Given the description of an element on the screen output the (x, y) to click on. 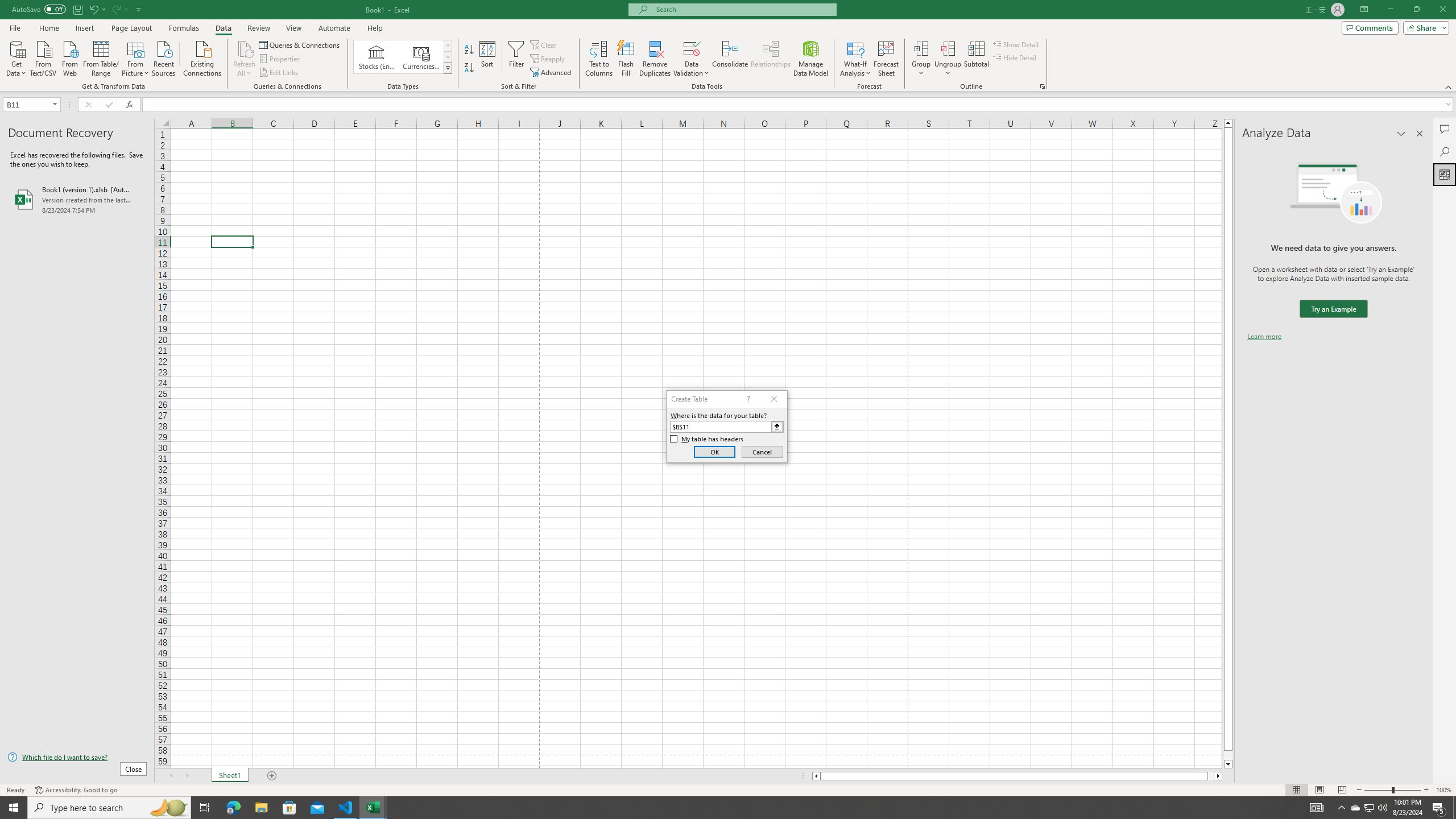
Ungroup... (947, 48)
Refresh All (244, 58)
Restore Down (1416, 9)
Microsoft search (742, 9)
AutomationID: ConvertToLinkedEntity (403, 56)
Forecast Sheet (885, 58)
